Given the description of an element on the screen output the (x, y) to click on. 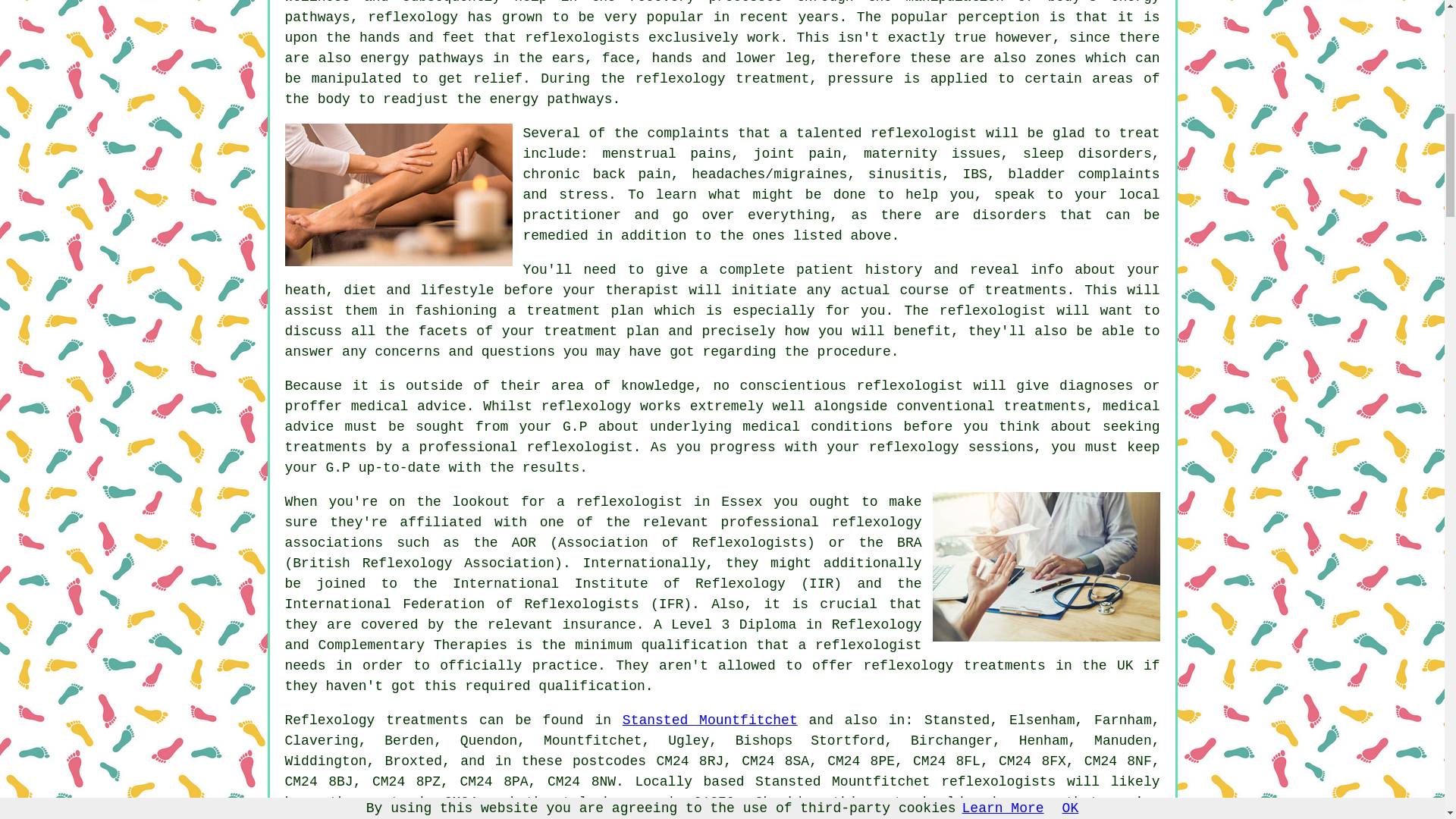
professional reflexologist (526, 447)
treatment plan (584, 310)
reflexologists (581, 37)
pressure (860, 78)
reflexology (586, 406)
Doctor's Advice Stansted Mountfitchet Essex (1046, 566)
